Given the description of an element on the screen output the (x, y) to click on. 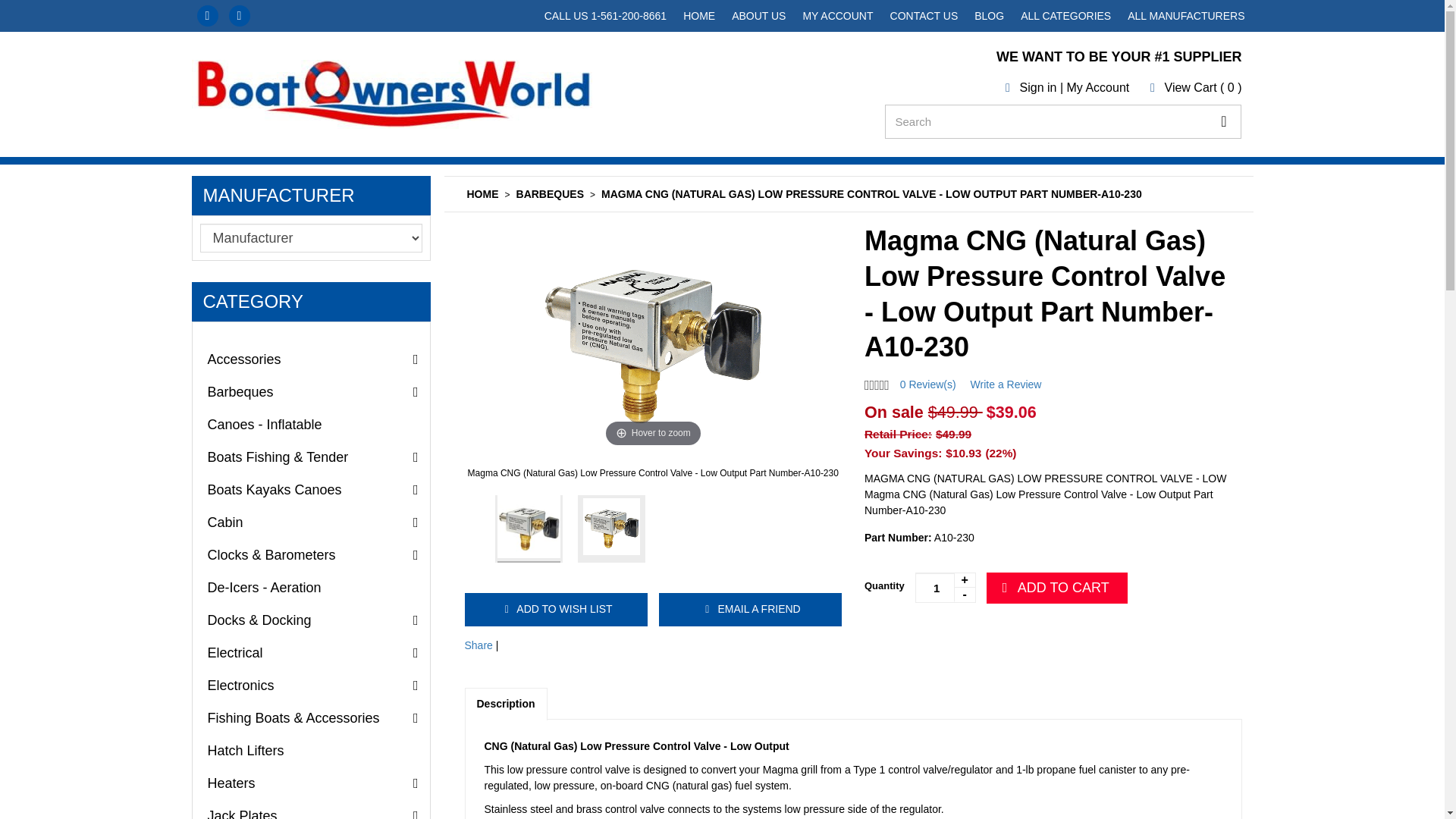
1 (945, 587)
ALL MANUFACTURERS (1185, 15)
CONTACT US (924, 15)
Like Us on Facebook (207, 15)
HOME (699, 15)
Canoes - Inflatable (311, 424)
Accessories (311, 358)
Boats Kayaks Canoes (311, 489)
CALL US 1-561-200-8661 (605, 15)
ALL CATEGORIES (1065, 15)
Barbeques (311, 391)
ABOUT US (758, 15)
BLOG (988, 15)
MY ACCOUNT (836, 15)
